Given the description of an element on the screen output the (x, y) to click on. 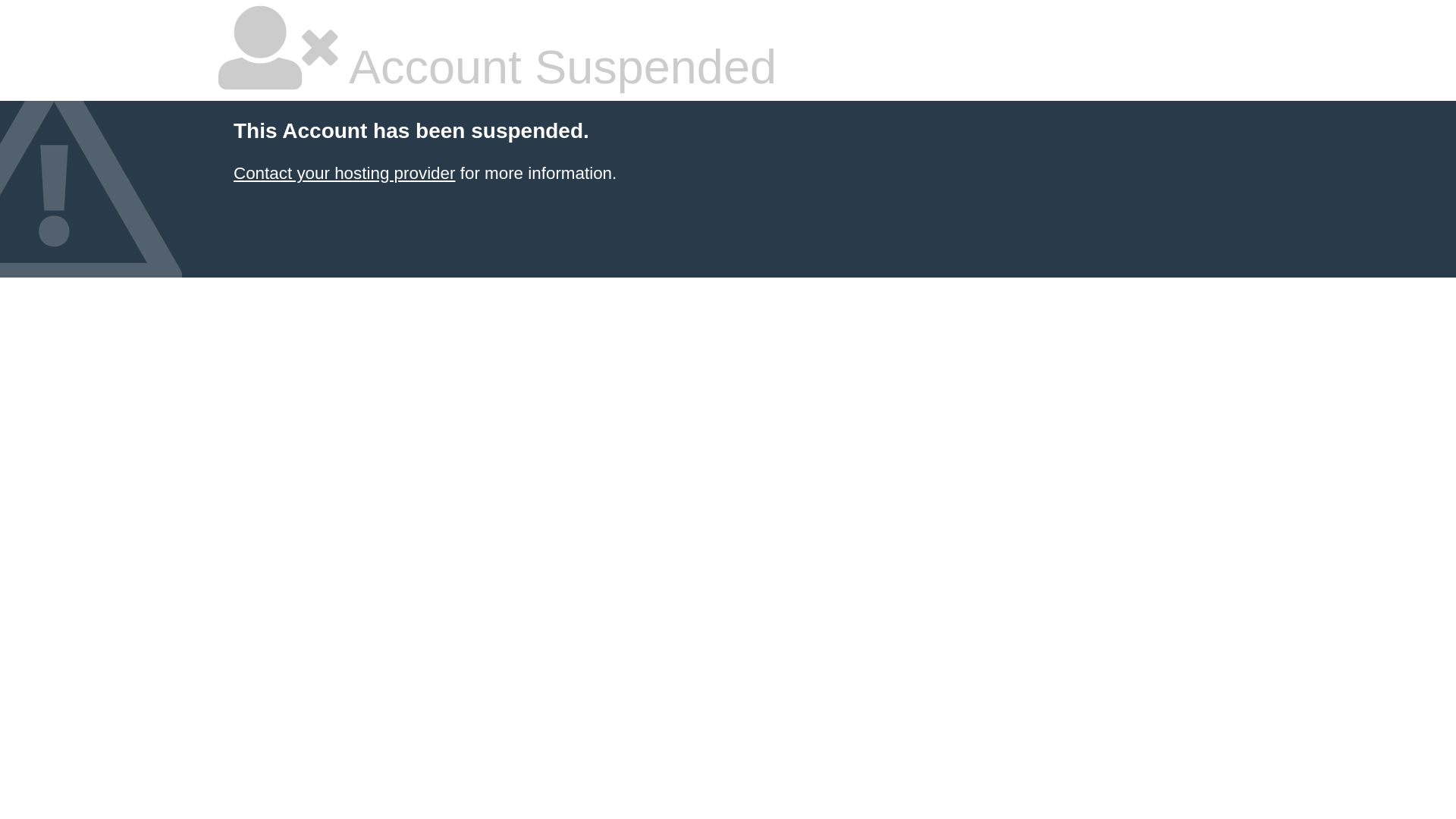
Contact your hosting provider Element type: text (344, 172)
